Given the description of an element on the screen output the (x, y) to click on. 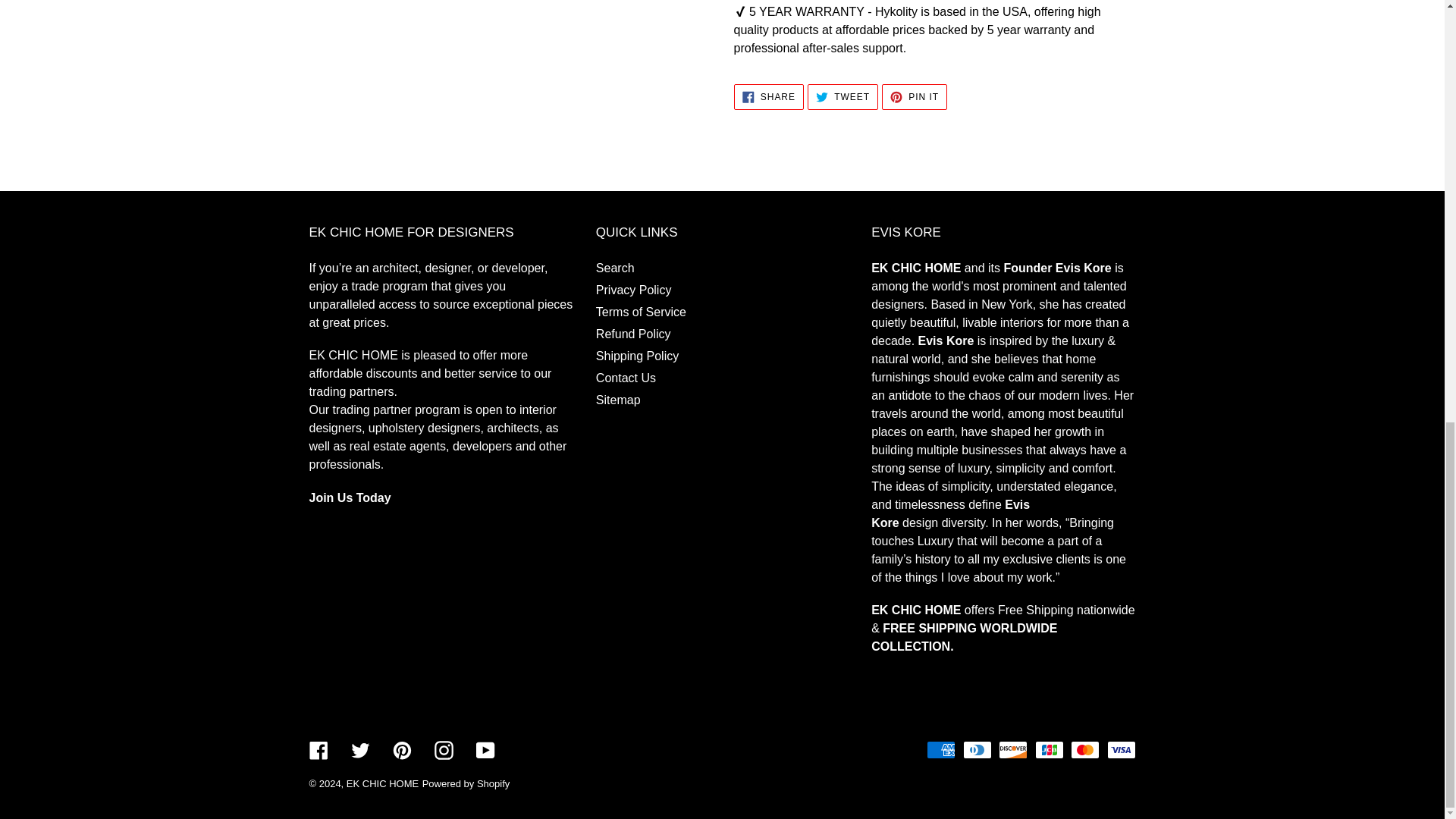
B2B WHOLESALE (349, 497)
EK CHIC HOMEPAGE (915, 609)
FREE SHIPPING WORLDWIDE (963, 636)
EK CHIC HOME LUXURY (915, 267)
